Given the description of an element on the screen output the (x, y) to click on. 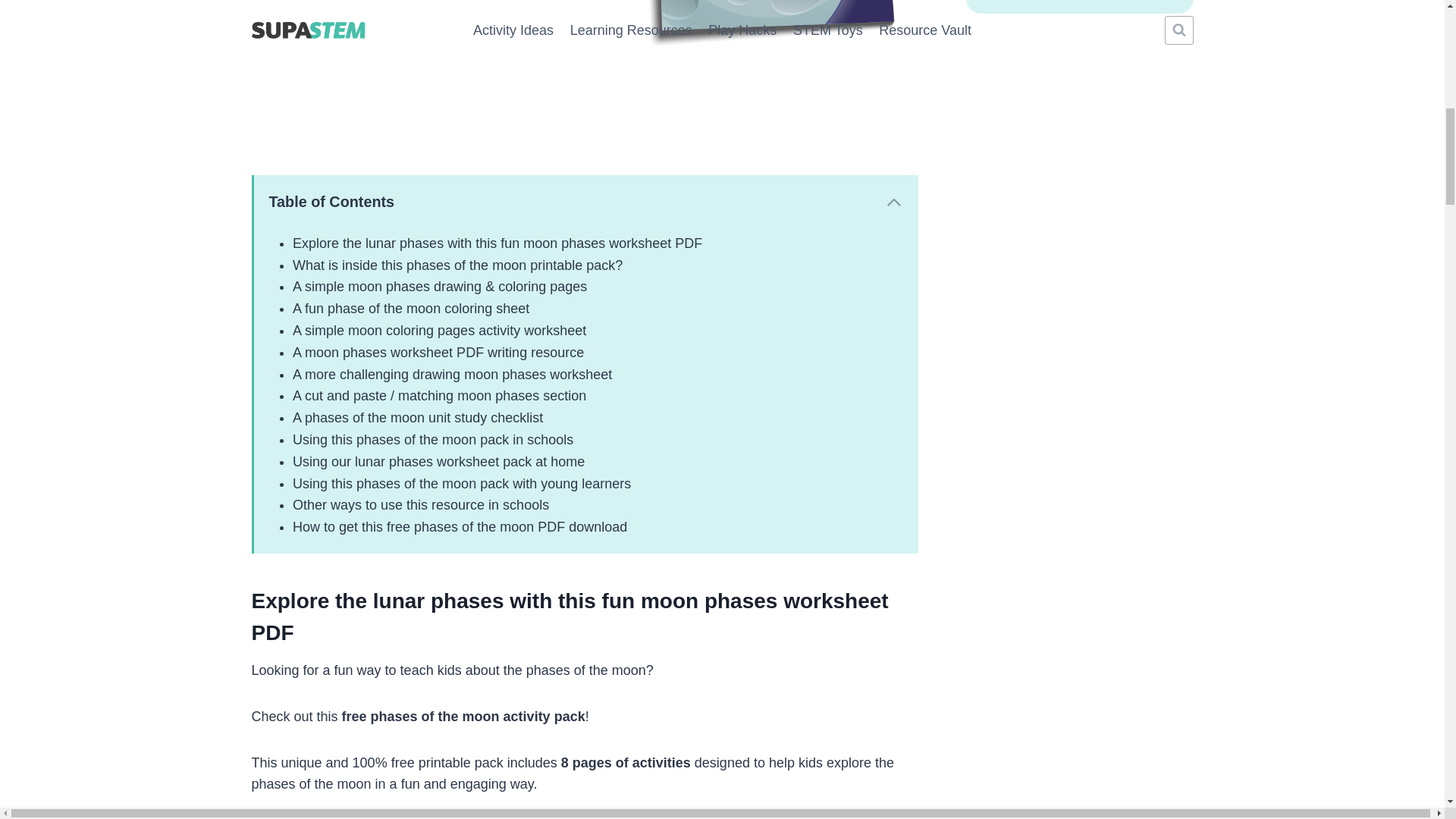
Using this phases of the moon pack in schools (432, 439)
A more challenging drawing moon phases worksheet (451, 374)
Other ways to use this resource in schools (420, 504)
What is inside this phases of the moon printable pack? (457, 264)
Using our lunar phases worksheet pack at home (438, 461)
A fun phase of the moon coloring sheet (410, 308)
A moon phases worksheet PDF writing resource (437, 352)
How to get this free phases of the moon PDF download (459, 526)
A simple moon coloring pages activity worksheet (439, 330)
Using this phases of the moon pack with young learners (461, 483)
A phases of the moon unit study checklist (417, 417)
